Given the description of an element on the screen output the (x, y) to click on. 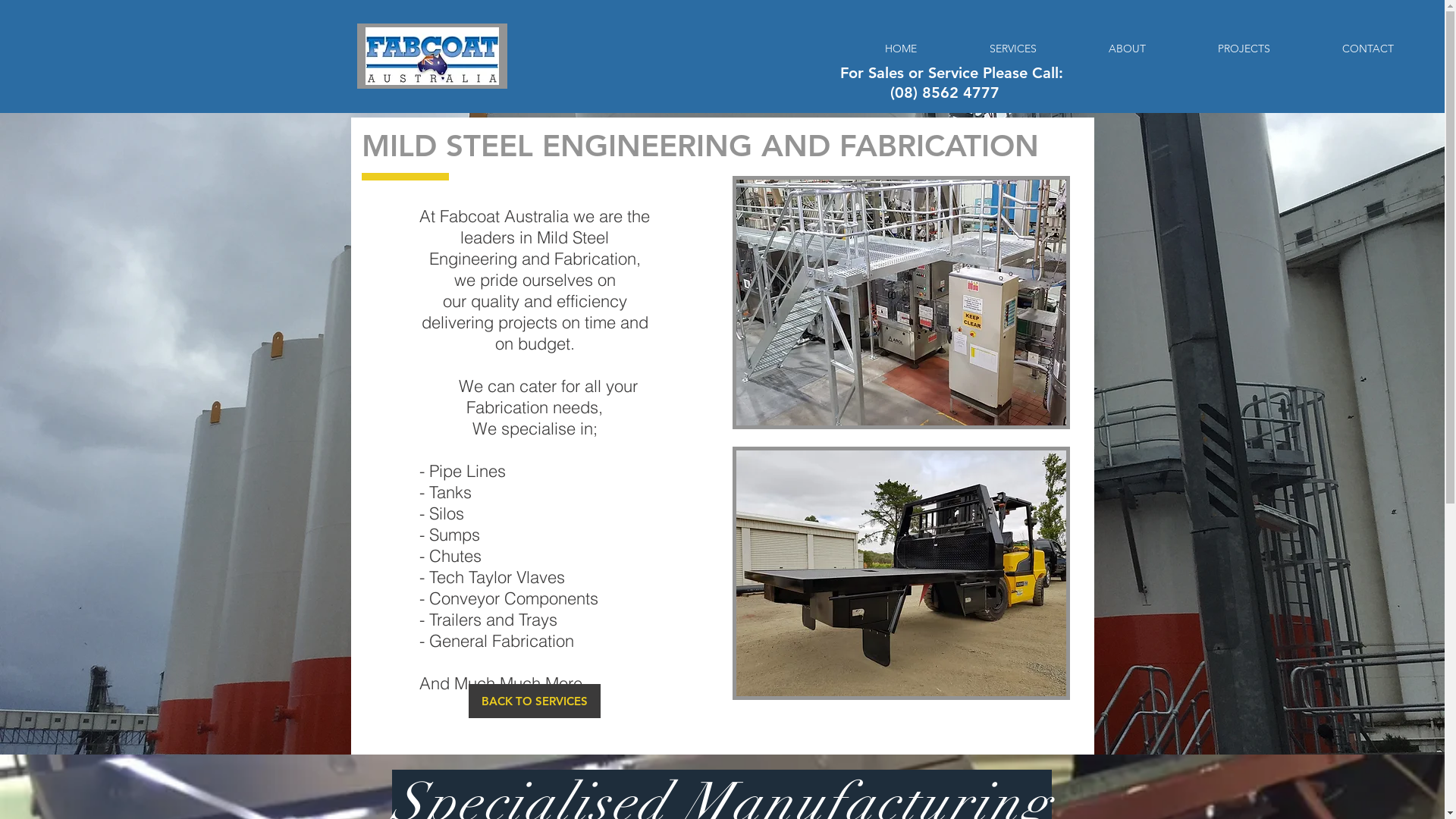
ABOUT Element type: text (1126, 48)
PROJECTS Element type: text (1243, 48)
BACK TO SERVICES Element type: text (534, 701)
SERVICES Element type: text (1012, 48)
FABCOAT.jpg Element type: hover (431, 55)
HOME Element type: text (900, 48)
CONTACT Element type: text (1367, 48)
